Given the description of an element on the screen output the (x, y) to click on. 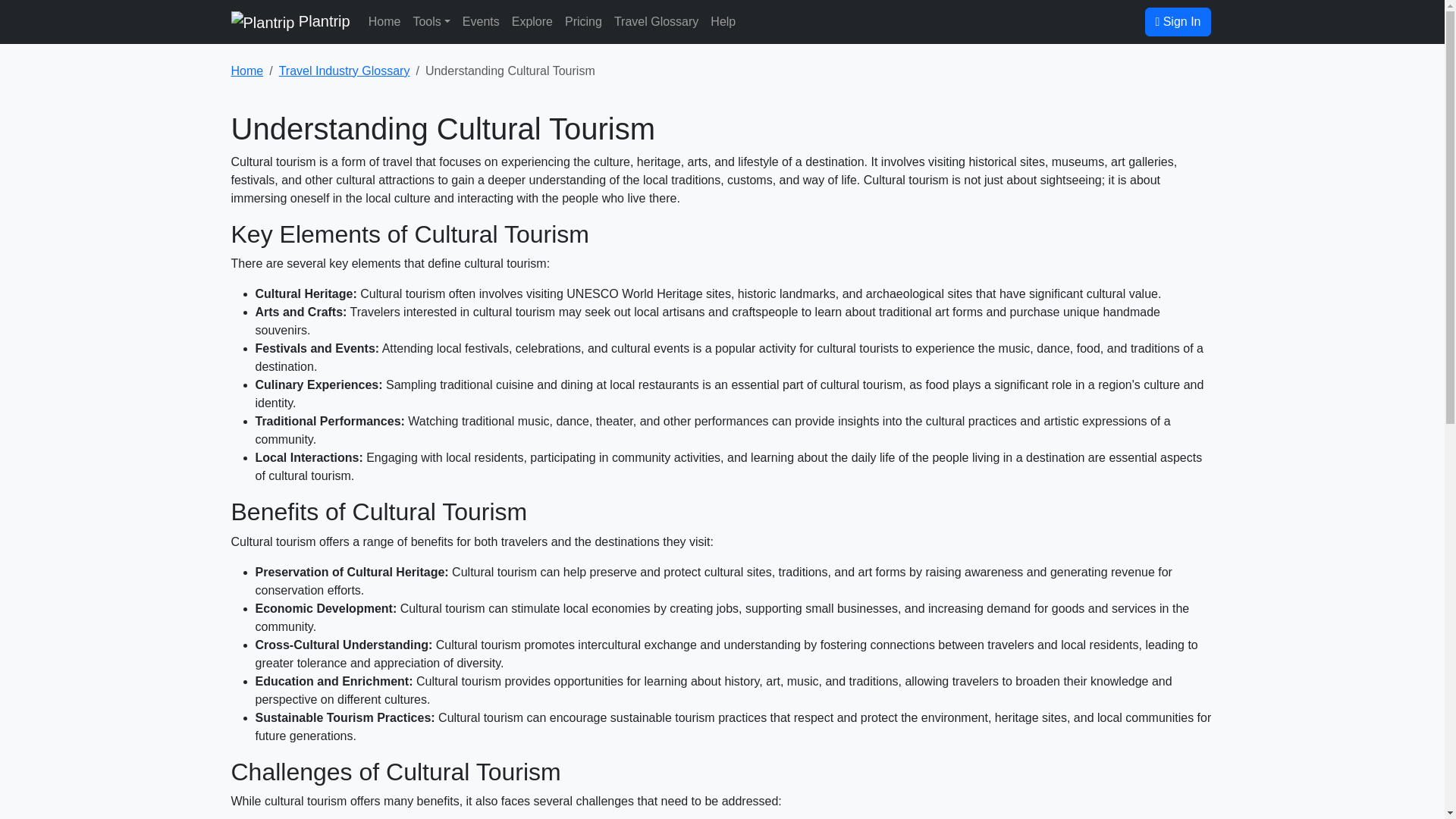
Events (481, 21)
Travel Glossary (656, 21)
Plantrip (289, 21)
Home (246, 70)
Pricing (583, 21)
Explore (532, 21)
Home (384, 21)
Help (722, 21)
Tools (430, 21)
Sign In (1176, 21)
